Given the description of an element on the screen output the (x, y) to click on. 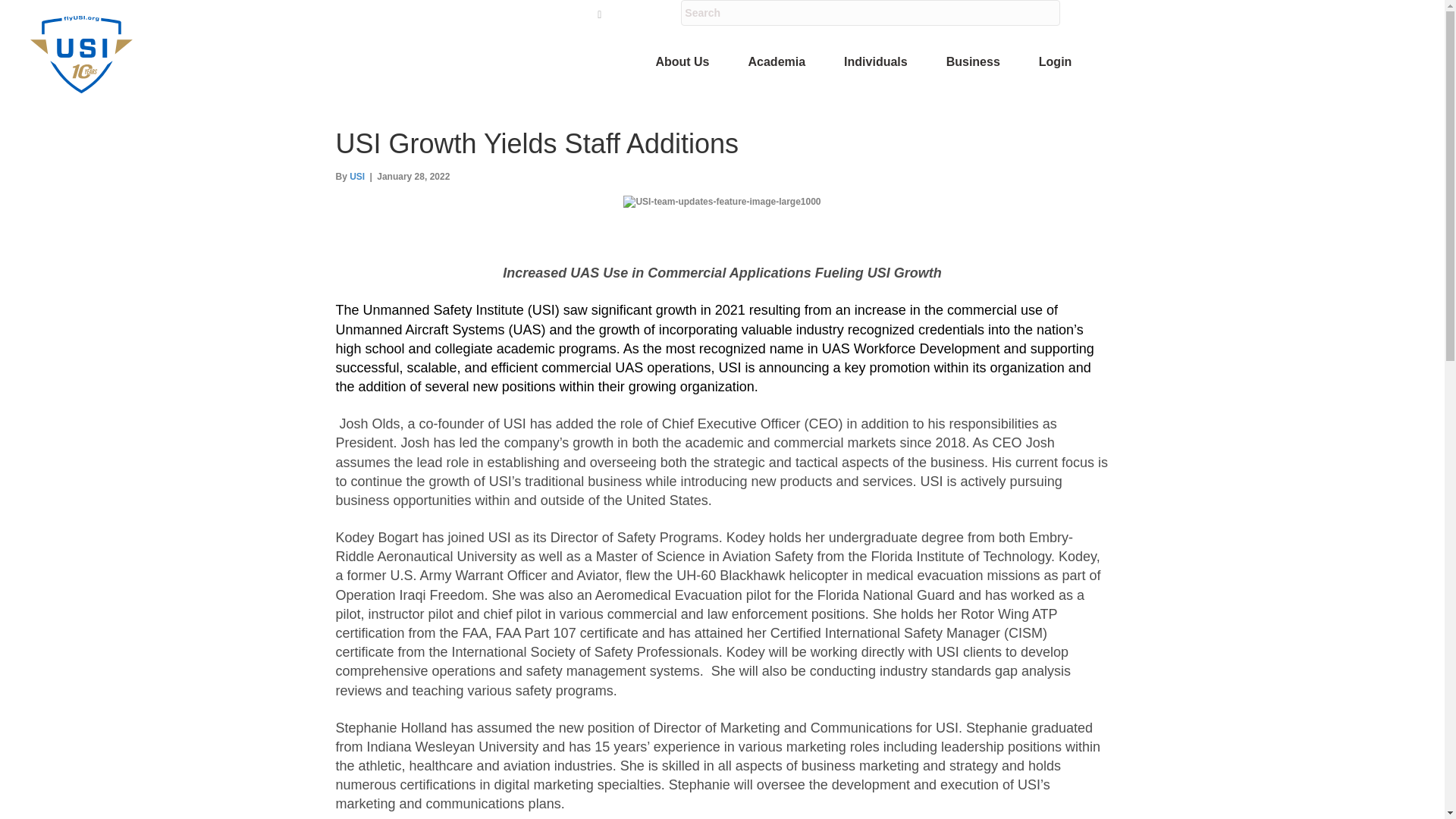
Login (1054, 62)
Academia (776, 62)
Individuals (875, 62)
USI-team-updates-feature-image-large1000 (722, 201)
About Us (681, 62)
Business (972, 62)
